Given the description of an element on the screen output the (x, y) to click on. 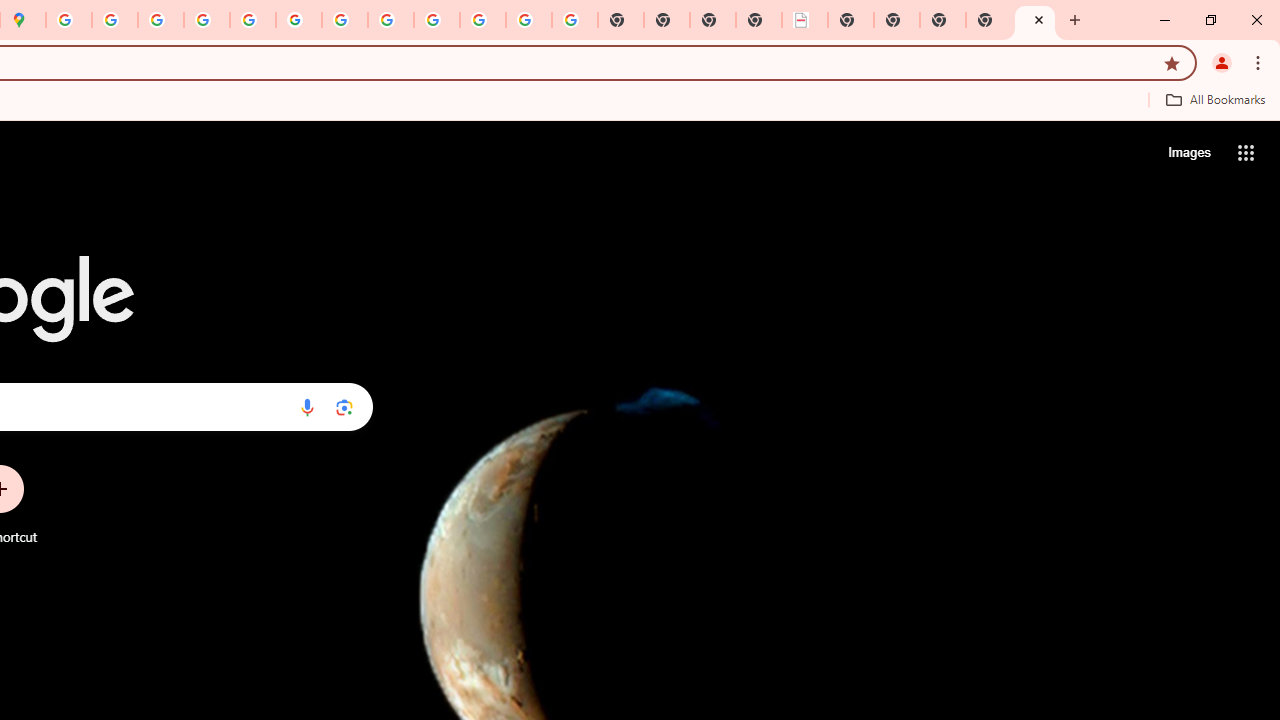
Privacy Help Center - Policies Help (161, 20)
LAAD Defence & Security 2025 | BAE Systems (805, 20)
YouTube (345, 20)
New Tab (989, 20)
